Given the description of an element on the screen output the (x, y) to click on. 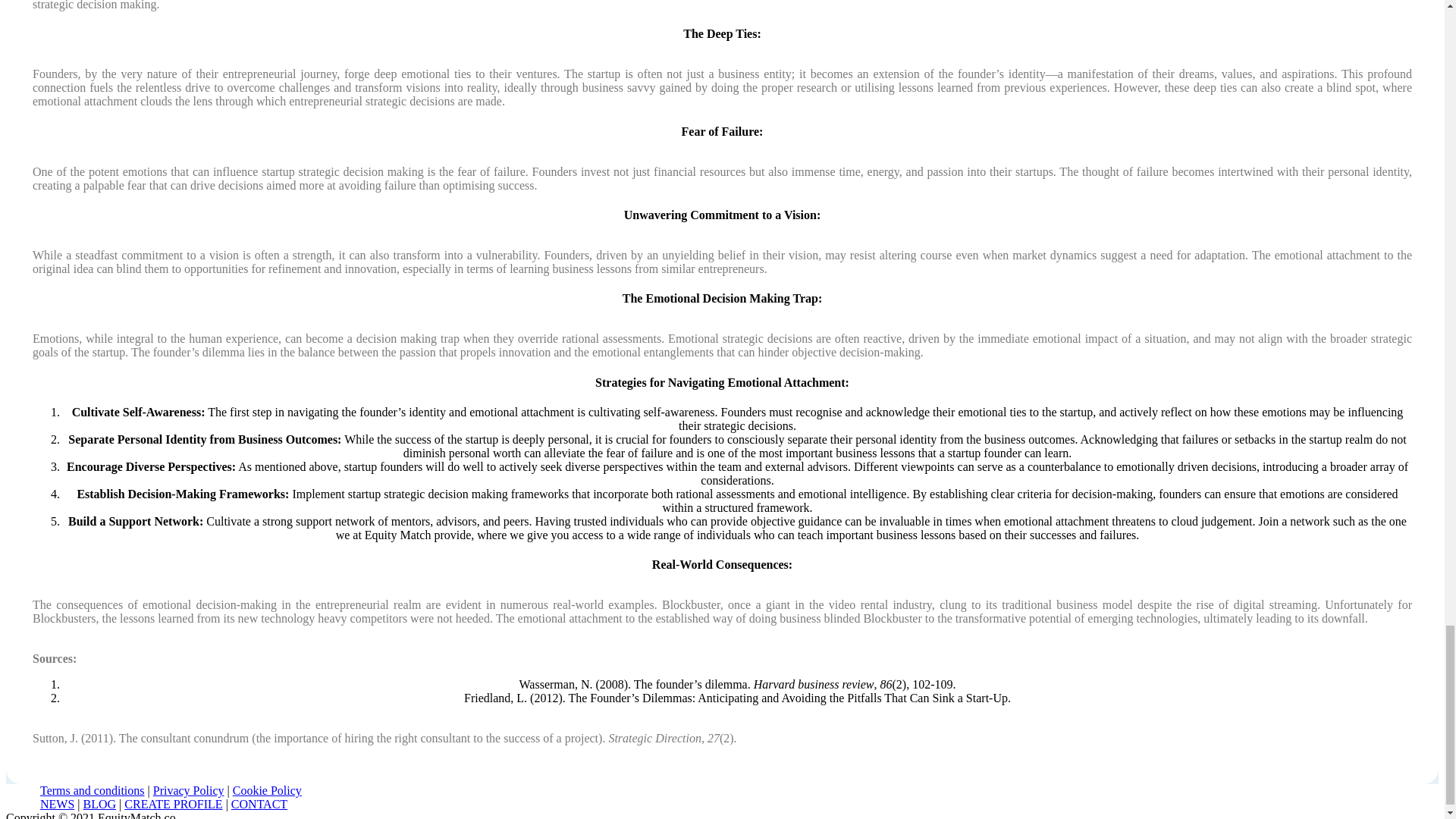
Terms and conditions (92, 789)
NEWS (57, 803)
BLOG (99, 803)
CONTACT (258, 803)
Privacy Policy (188, 789)
Cookie Policy (266, 789)
CREATE PROFILE (172, 803)
